Given the description of an element on the screen output the (x, y) to click on. 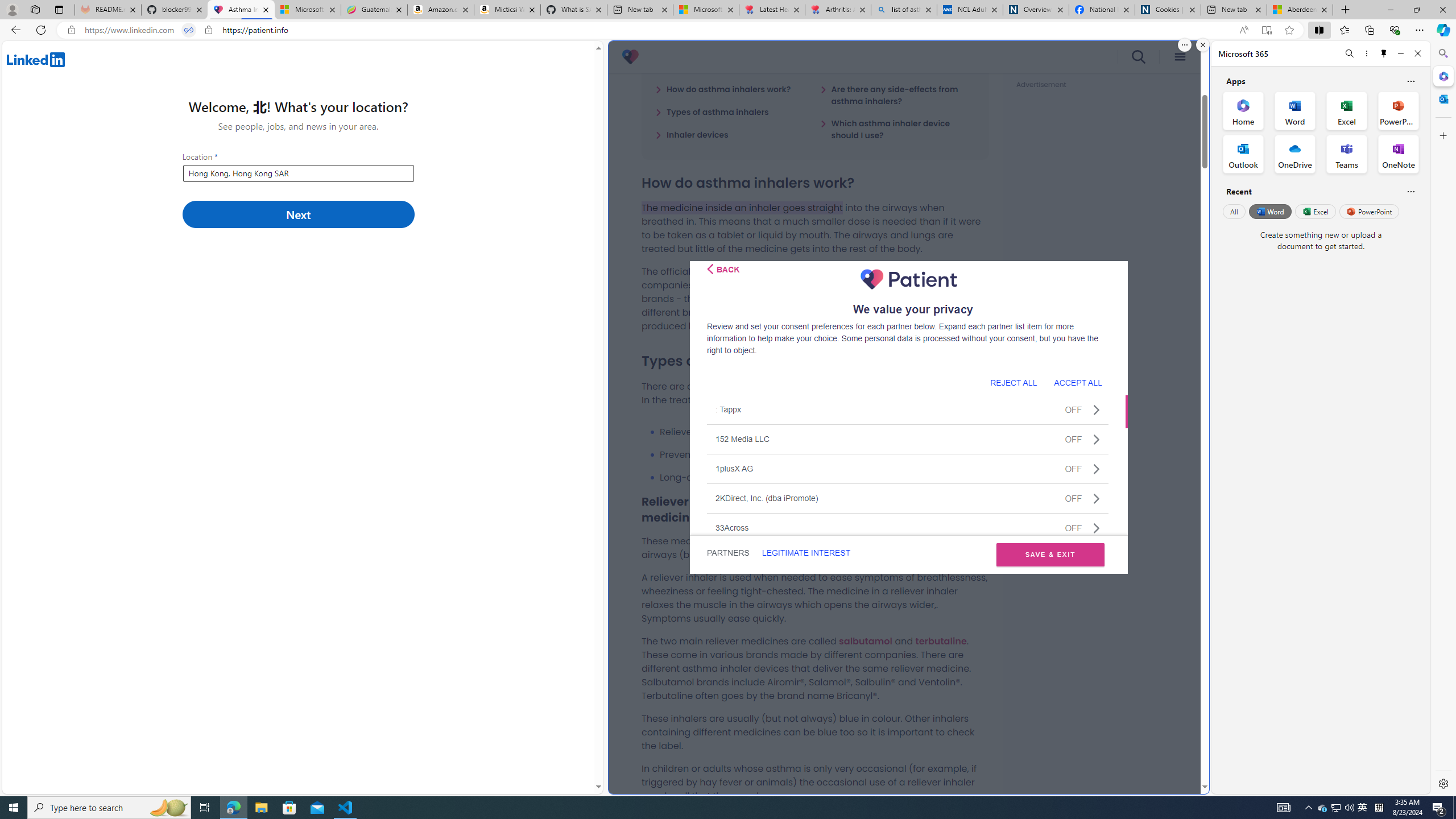
Is this helpful? (1410, 191)
SAVE & EXIT (1050, 554)
LEGITIMATE INTEREST (805, 552)
152 Media LLCOFF (907, 438)
Relievers (short-acting bronchodilators). (823, 431)
REJECT ALL (1013, 382)
: TappxOFF (907, 409)
Class: css-i5klq5 (710, 268)
Are there any side-effects from asthma inhalers? (897, 94)
OneNote Office App (1398, 154)
menu icon (1179, 56)
